Given the description of an element on the screen output the (x, y) to click on. 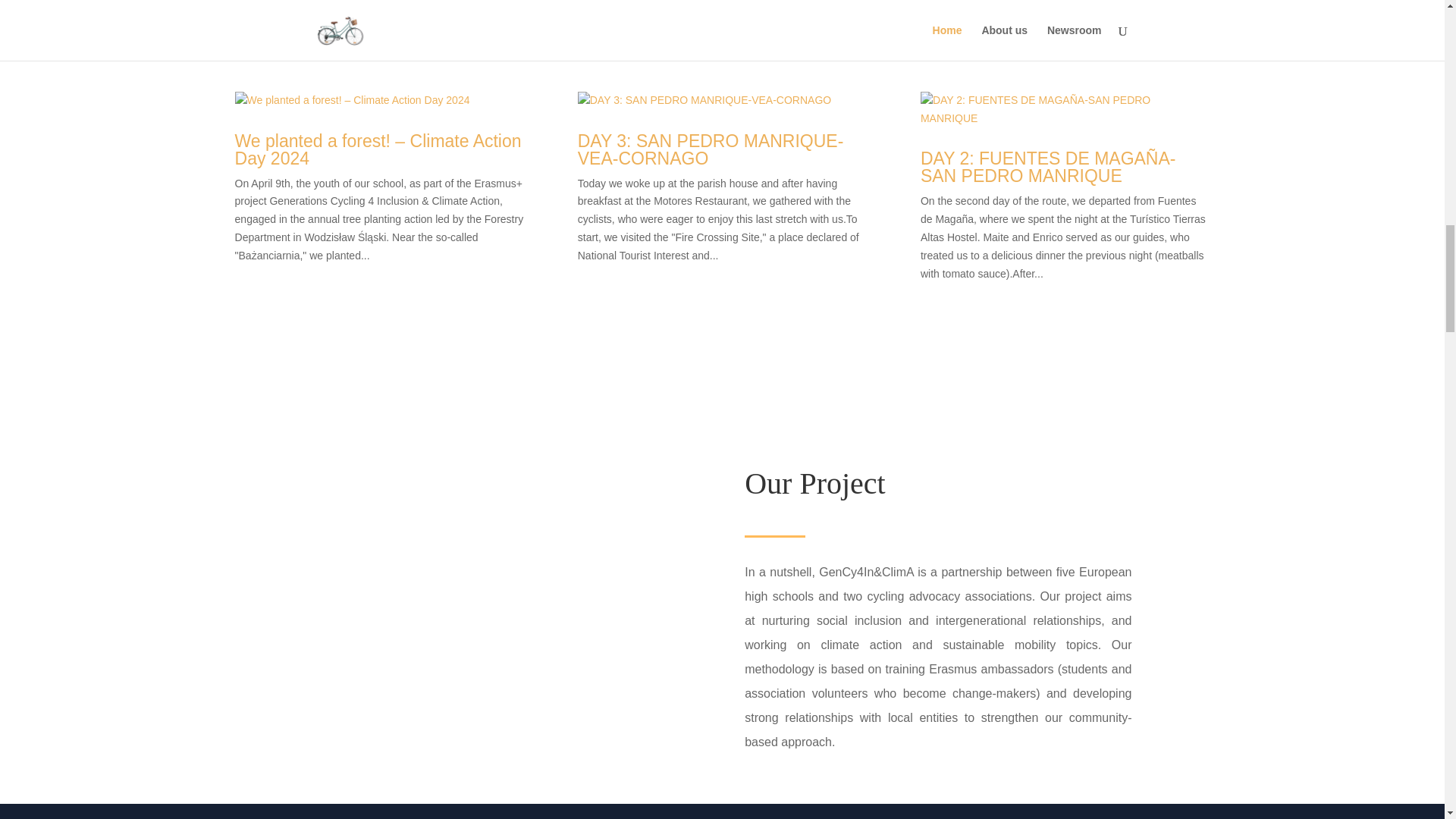
DAY 3: SAN PEDRO MANRIQUE-VEA-CORNAGO (711, 149)
